Given the description of an element on the screen output the (x, y) to click on. 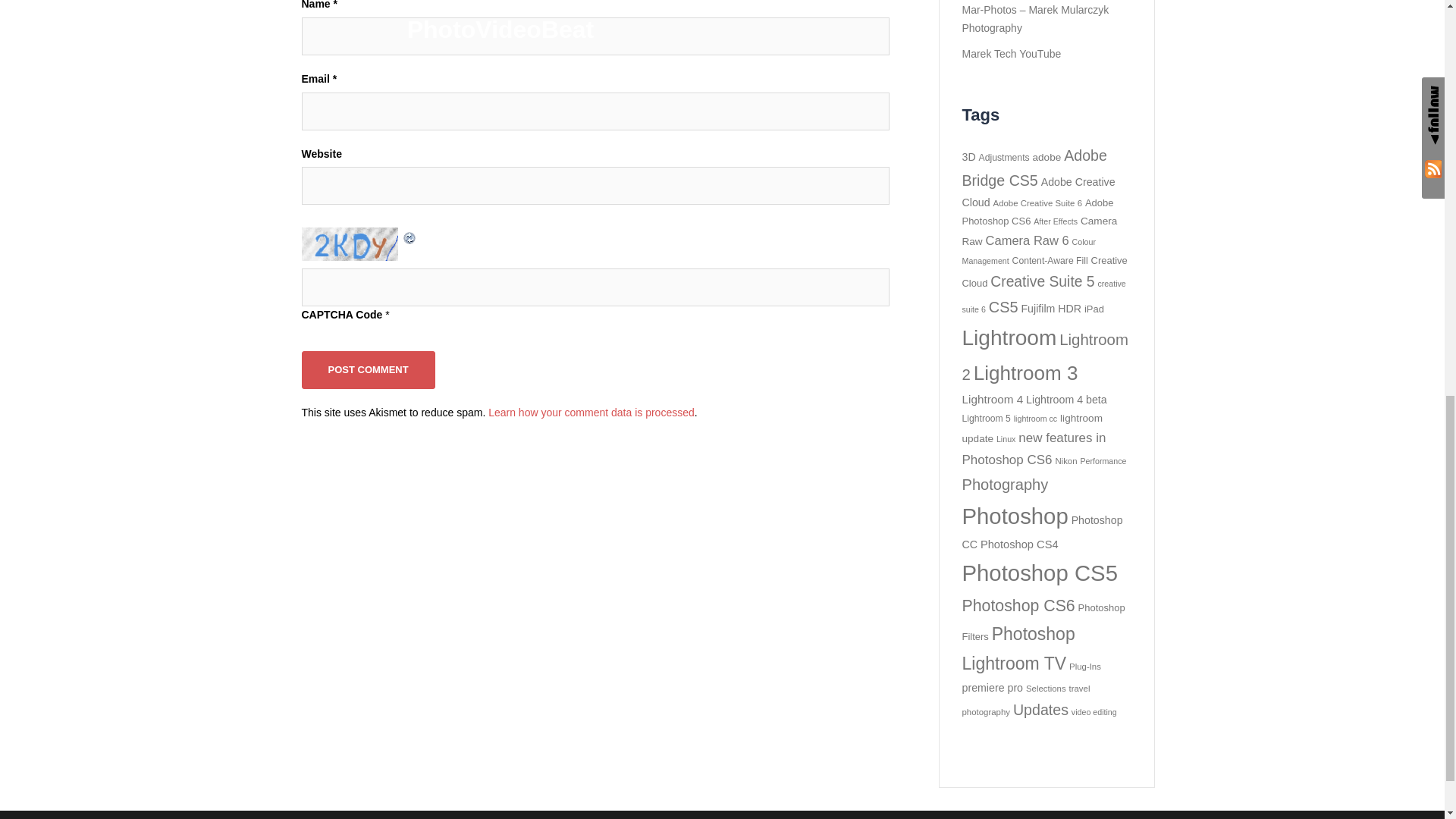
Adjustments (1003, 157)
CAPTCHA (351, 243)
Learn how your comment data is processed (590, 412)
Post Comment (368, 369)
Post Comment (368, 369)
Marek Tech YouTube (1010, 53)
After Effects (1055, 221)
Adobe Creative Cloud (1037, 192)
Adobe Bridge CS5 (1033, 168)
adobe (1046, 156)
